Given the description of an element on the screen output the (x, y) to click on. 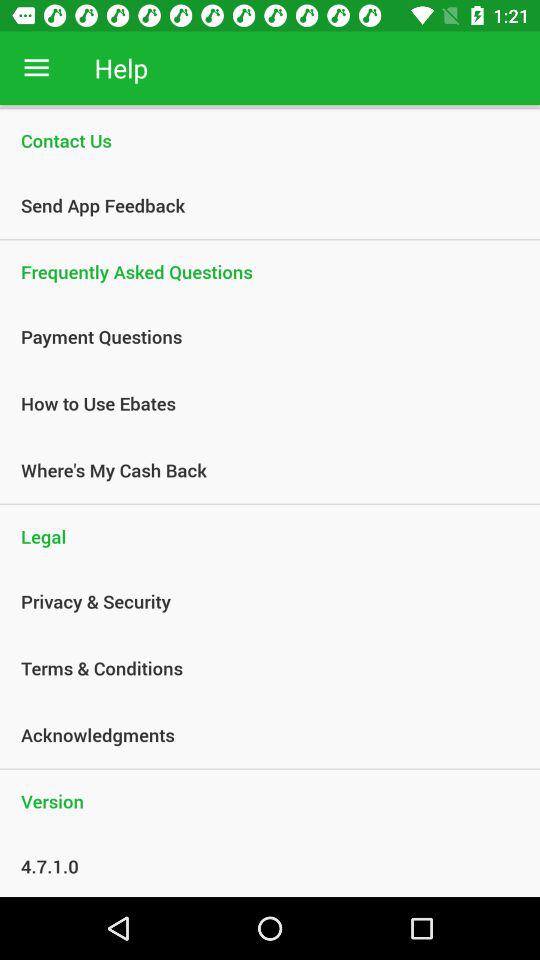
launch the icon above send app feedback item (270, 140)
